Given the description of an element on the screen output the (x, y) to click on. 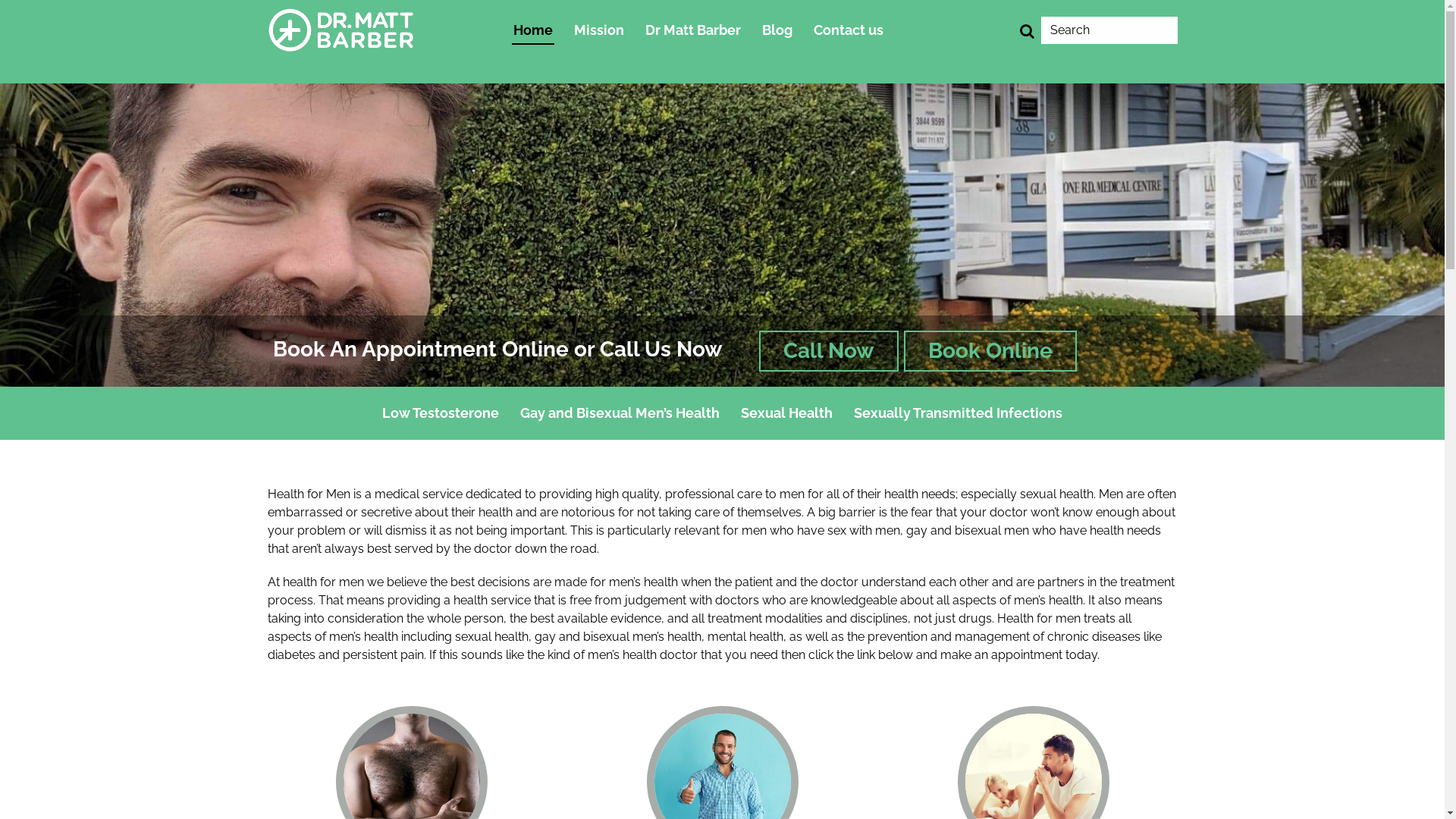
Mission Element type: text (598, 30)
Dr Matt Barber Element type: text (692, 30)
Health for Men Element type: hover (340, 30)
Home Element type: text (532, 30)
(07) 3844 9599 Element type: text (346, 18)
Sexually Transmitted Infections Element type: text (957, 413)
Contact us Element type: text (848, 30)
Call Now Element type: text (827, 350)
Blog Element type: text (776, 30)
Low Testosterone Element type: text (440, 413)
Sexual Health Element type: text (786, 413)
Book Online Element type: text (989, 350)
